Given the description of an element on the screen output the (x, y) to click on. 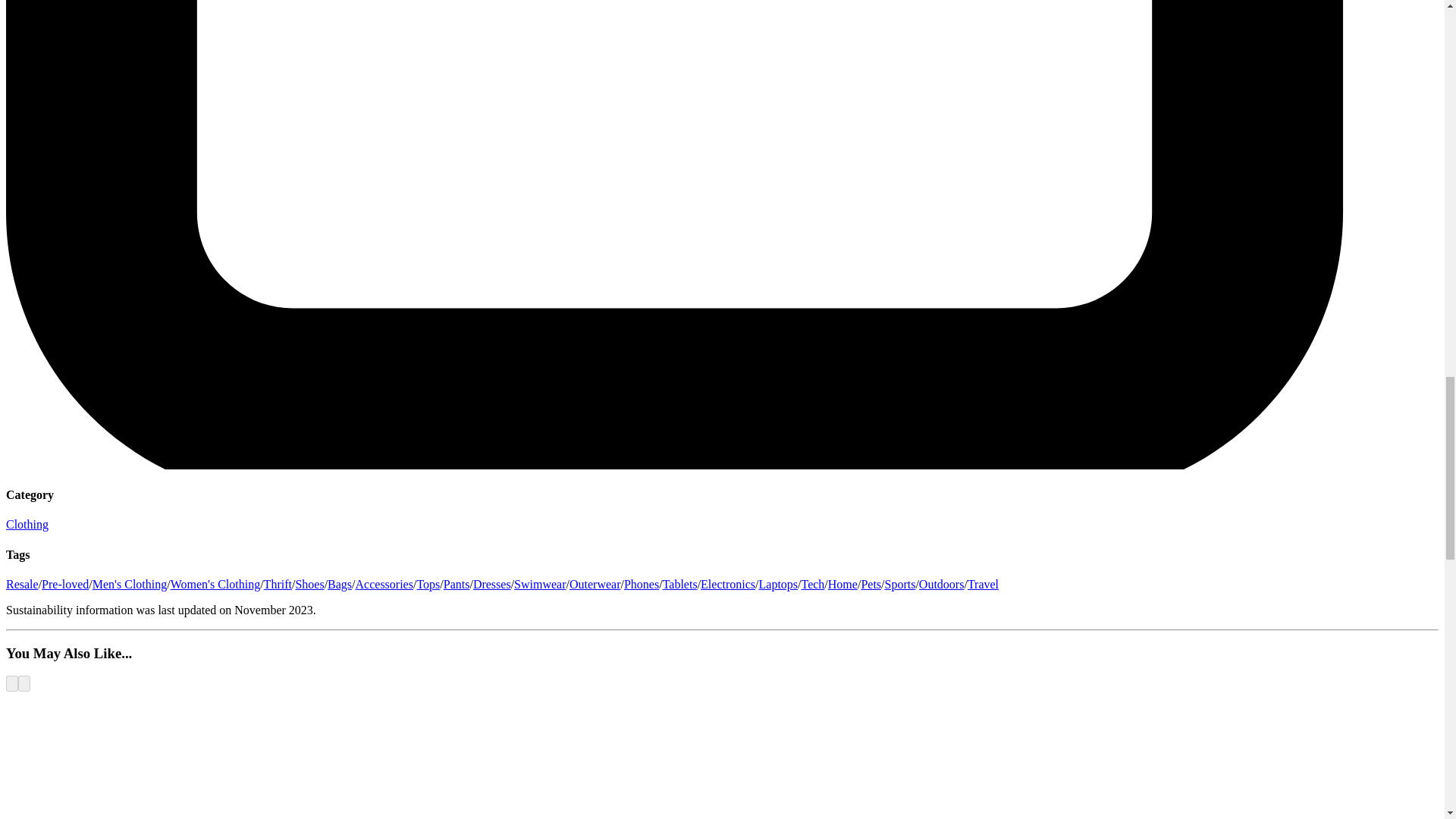
Dresses (492, 584)
Sports (899, 584)
Pets (870, 584)
Shoes (309, 584)
Travel (983, 584)
Electronics (727, 584)
Bags (339, 584)
Tops (427, 584)
Outdoors (940, 584)
Men's Clothing (130, 584)
Tech (812, 584)
Pants (457, 584)
Swimwear (539, 584)
Outerwear (595, 584)
Clothing (26, 523)
